Given the description of an element on the screen output the (x, y) to click on. 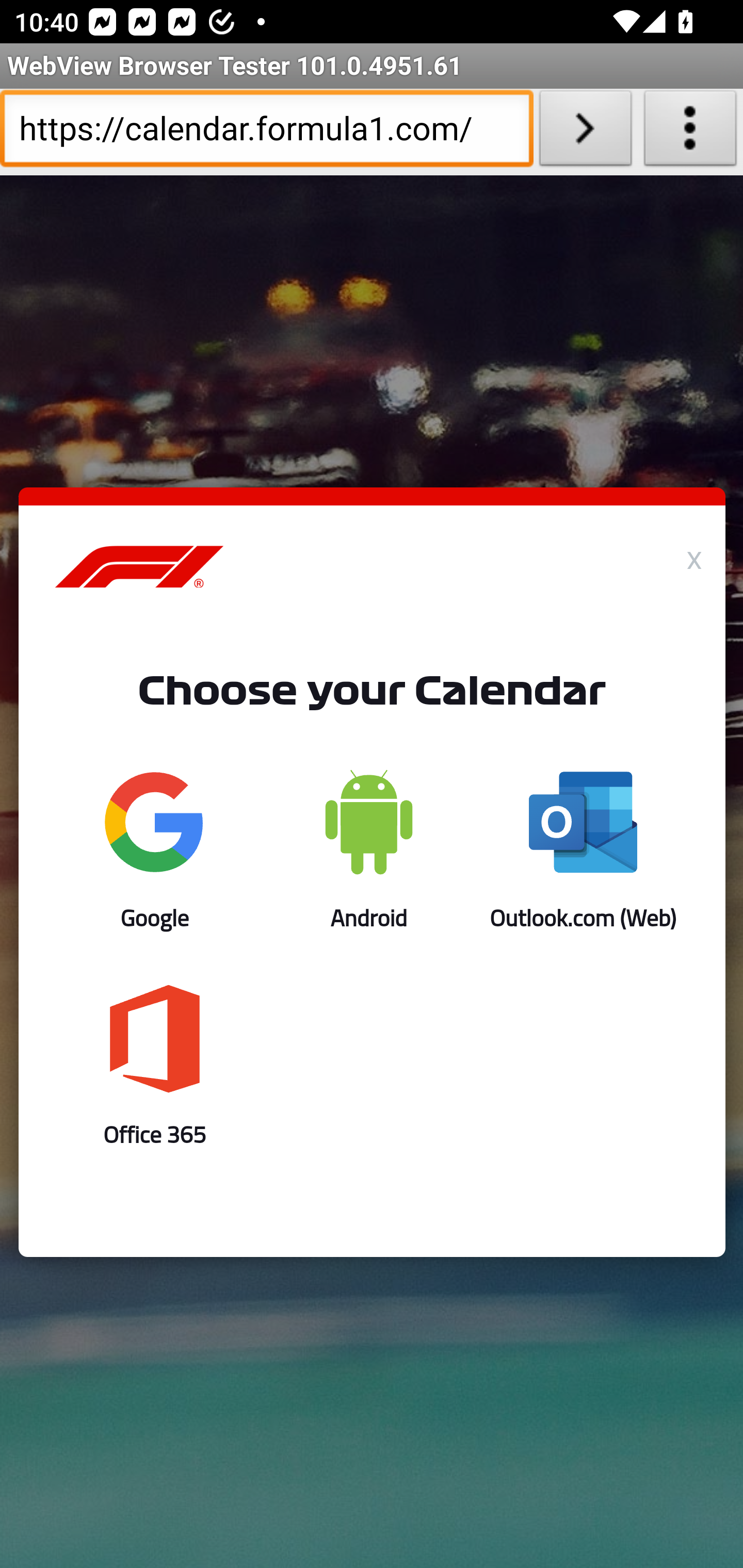
https://calendar.formula1.com/ (266, 132)
Load URL (585, 132)
About WebView (690, 132)
x (694, 556)
Google (154, 849)
Android (368, 849)
Outlook.com (Web) (582, 849)
office365 Office 365 (154, 1066)
